Given the description of an element on the screen output the (x, y) to click on. 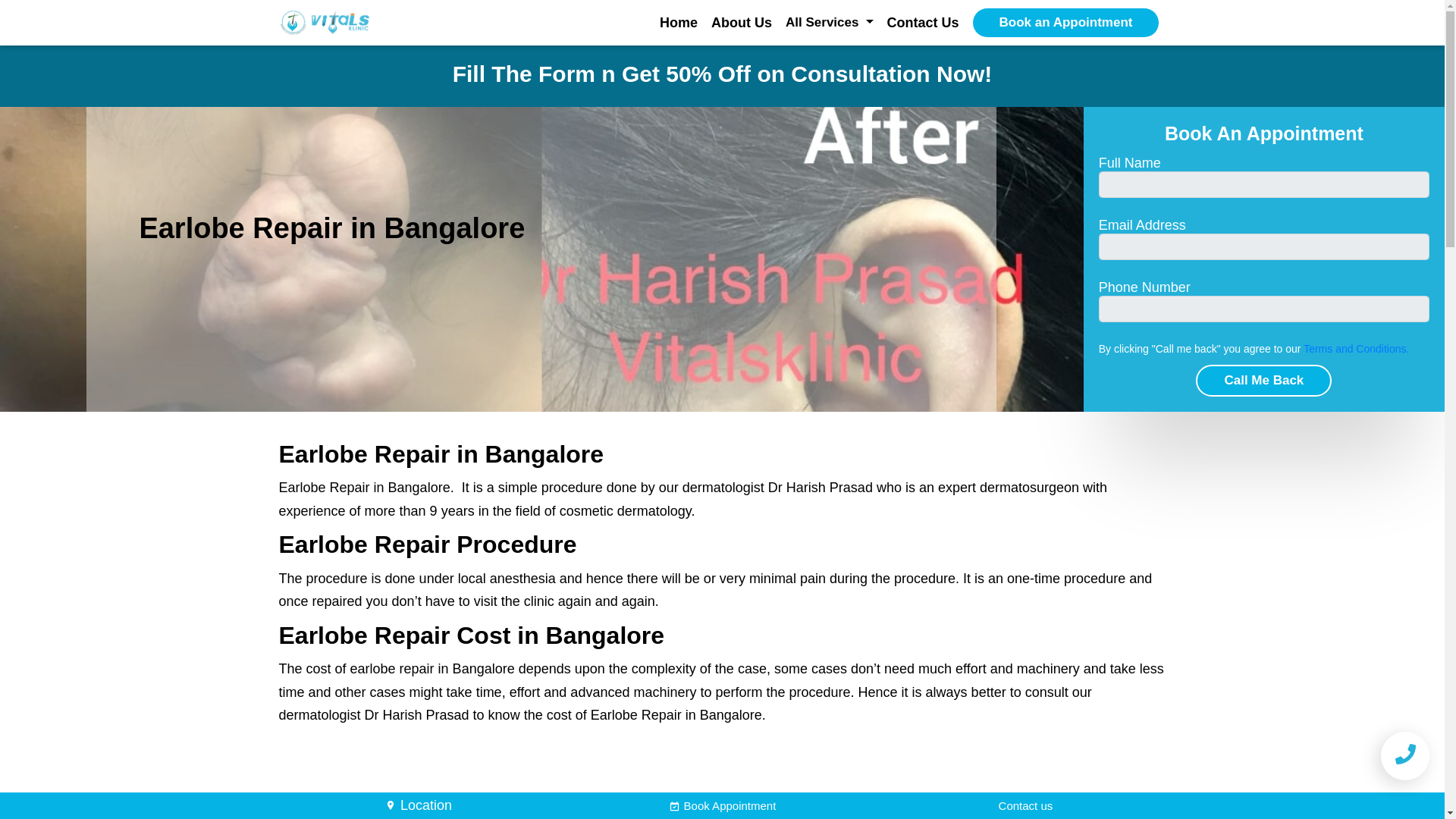
About Us (741, 22)
Contact Us (922, 22)
All Services (823, 22)
Call Me Back (1263, 380)
Book an Appointment (1065, 22)
Home (678, 22)
Terms and Conditions. (1356, 348)
